Given the description of an element on the screen output the (x, y) to click on. 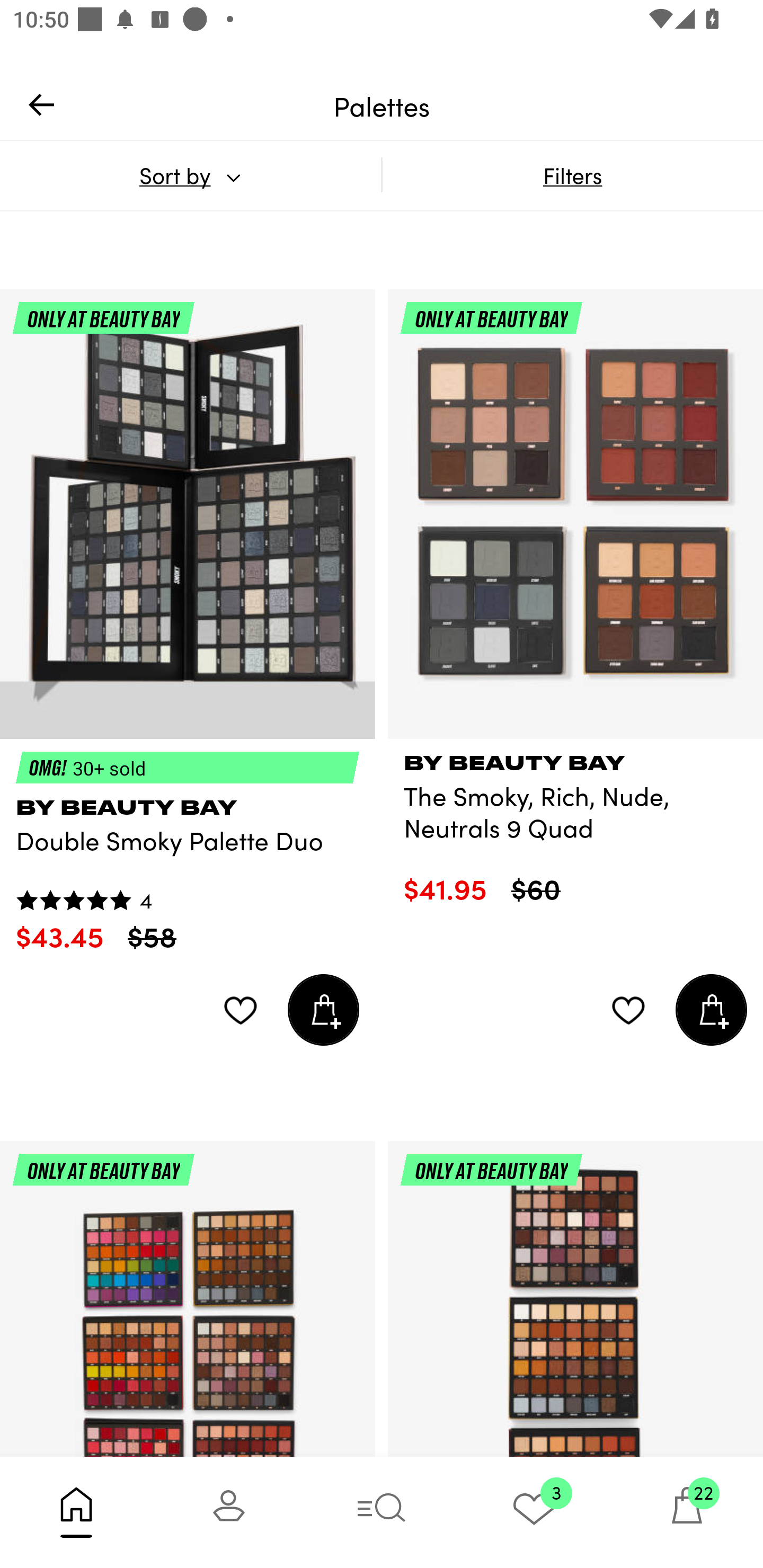
Sort by (190, 174)
Filters (572, 174)
3 (533, 1512)
22 (686, 1512)
